Given the description of an element on the screen output the (x, y) to click on. 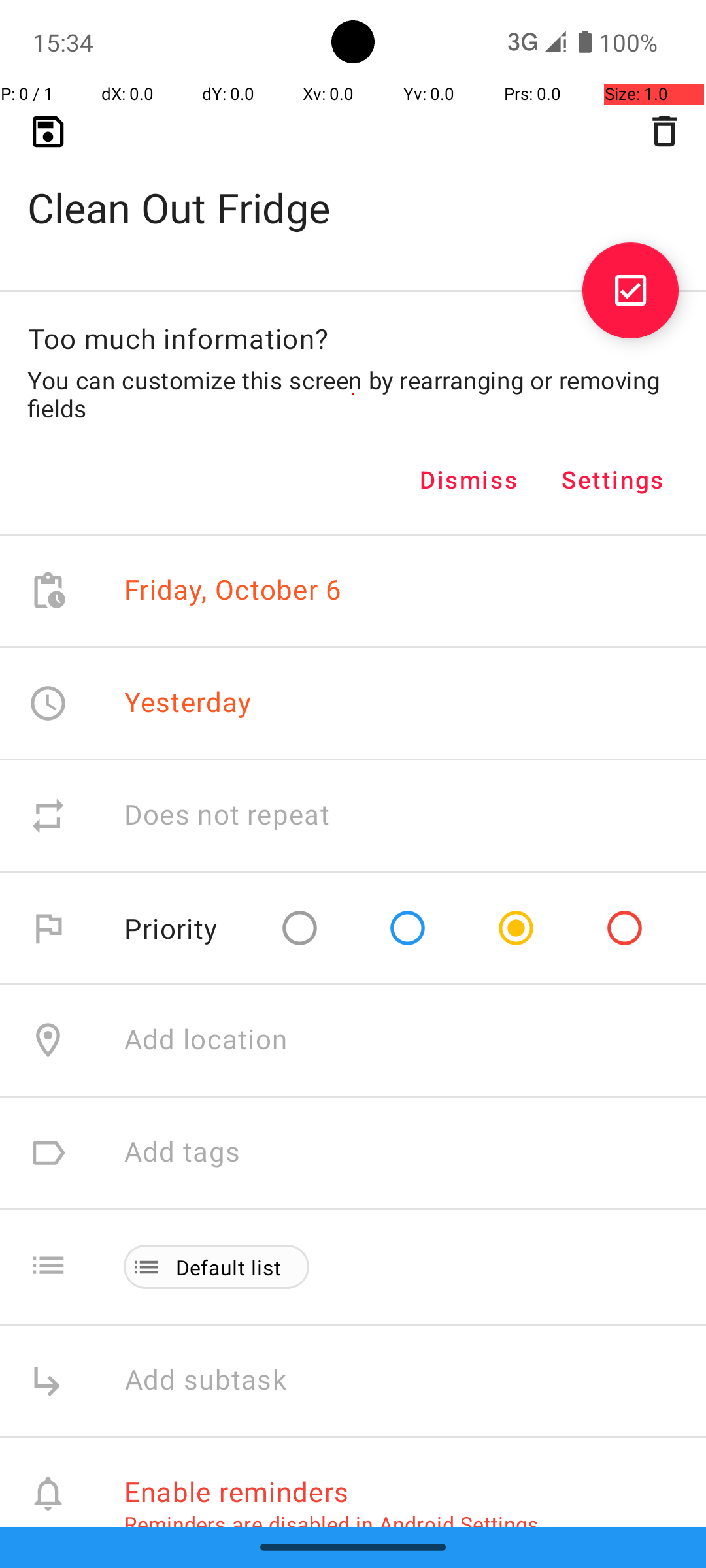
Clean Out Fridge Element type: android.widget.EditText (353, 186)
Delete task Element type: android.widget.Button (664, 131)
Too much information? Element type: android.widget.TextView (178, 337)
You can customize this screen by rearranging or removing fields Element type: android.widget.TextView (352, 393)
Dismiss Element type: android.widget.TextView (468, 479)
Default list Element type: android.widget.TextView (228, 1267)
Friday, October 6 Element type: android.widget.TextView (232, 590)
Does not repeat Element type: android.widget.TextView (226, 815)
Add location Element type: android.widget.TextView (205, 1040)
Add tags Element type: android.widget.TextView (182, 1152)
Add subtask Element type: android.widget.TextView (219, 1380)
Enable reminders Element type: android.widget.TextView (236, 1490)
Reminders are disabled in Android Settings Element type: android.widget.TextView (331, 1523)
